Given the description of an element on the screen output the (x, y) to click on. 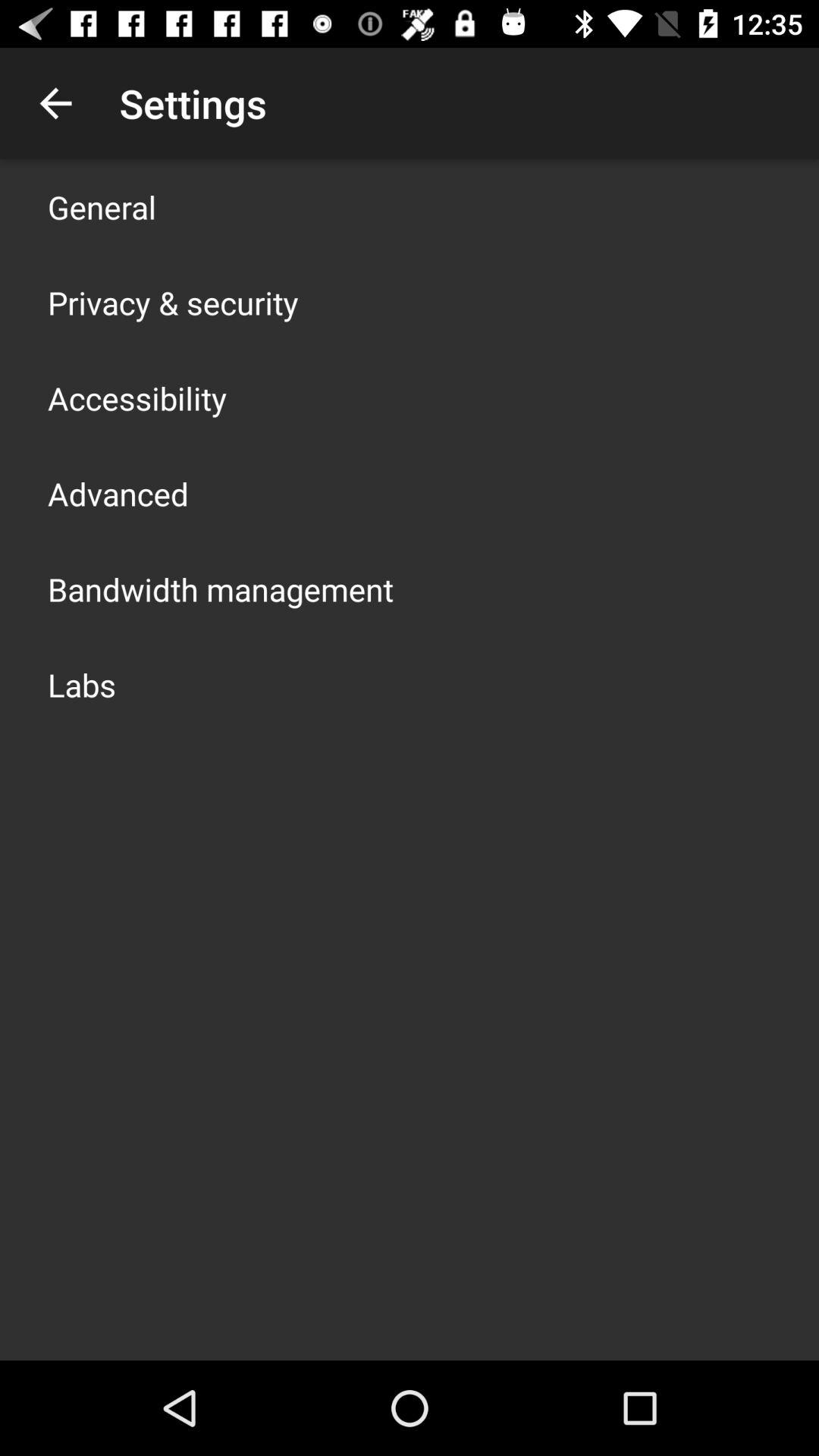
launch the advanced (117, 493)
